Given the description of an element on the screen output the (x, y) to click on. 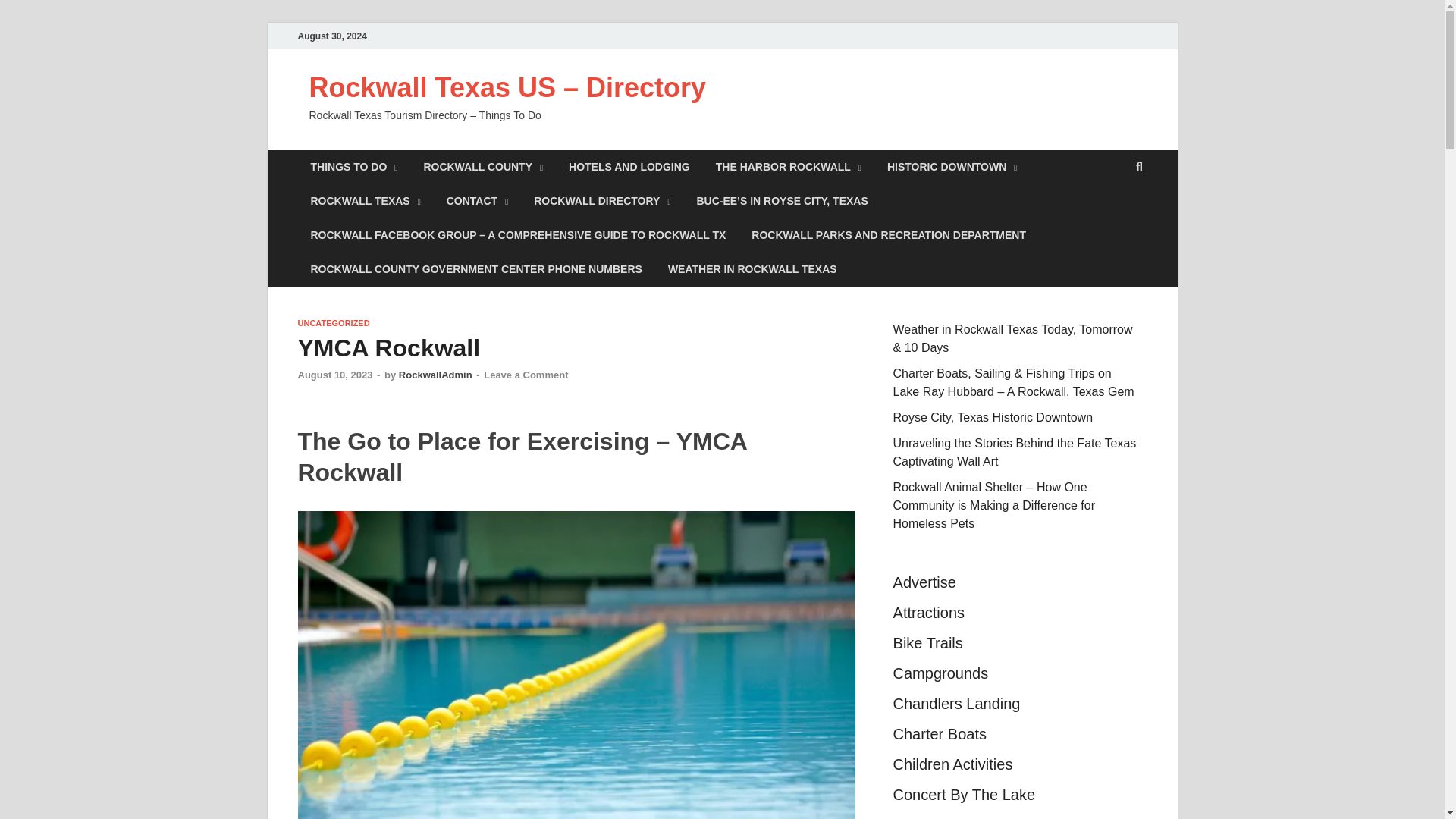
HOTELS AND LODGING (629, 166)
HISTORIC DOWNTOWN (952, 166)
ROCKWALL TEXAS (364, 201)
ROCKWALL COUNTY (483, 166)
THE HARBOR ROCKWALL (789, 166)
THINGS TO DO (353, 166)
